Given the description of an element on the screen output the (x, y) to click on. 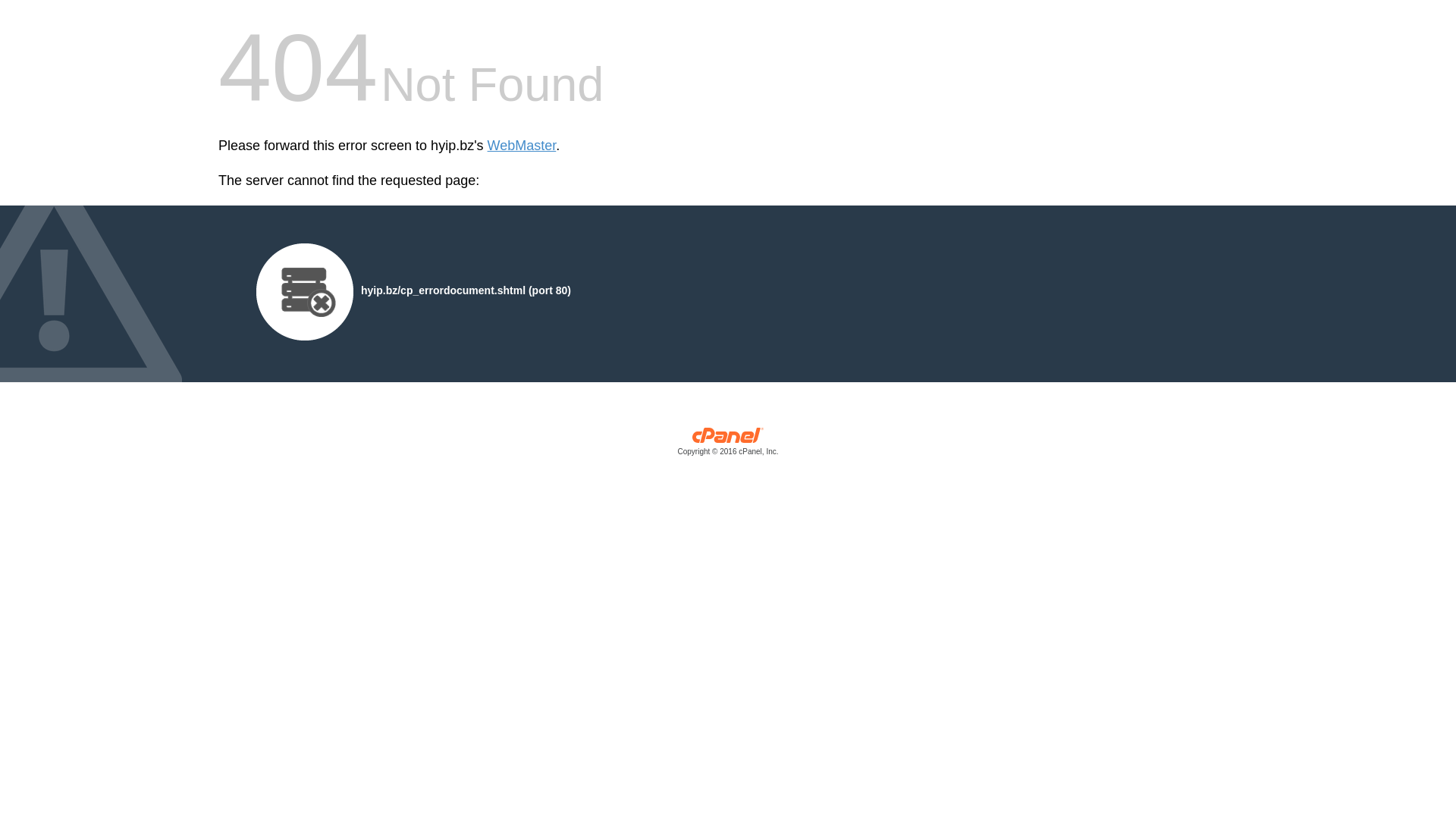
WebMaster Element type: text (521, 145)
